Given the description of an element on the screen output the (x, y) to click on. 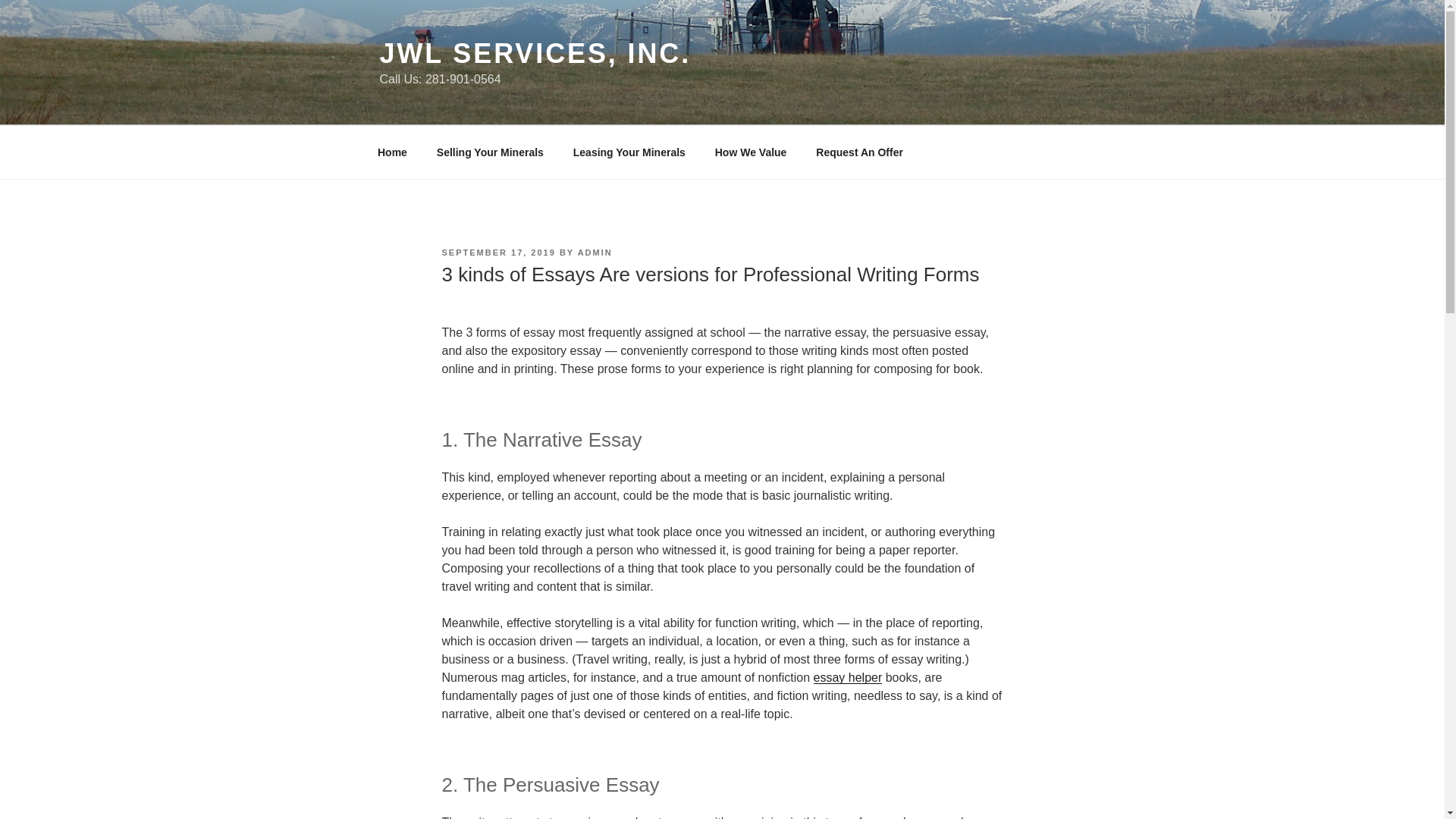
Request An Offer (860, 151)
JWL SERVICES, INC. (534, 52)
ADMIN (595, 252)
How We Value (750, 151)
Leasing Your Minerals (628, 151)
essay helper (847, 676)
Home (392, 151)
Selling Your Minerals (489, 151)
SEPTEMBER 17, 2019 (497, 252)
